Given the description of an element on the screen output the (x, y) to click on. 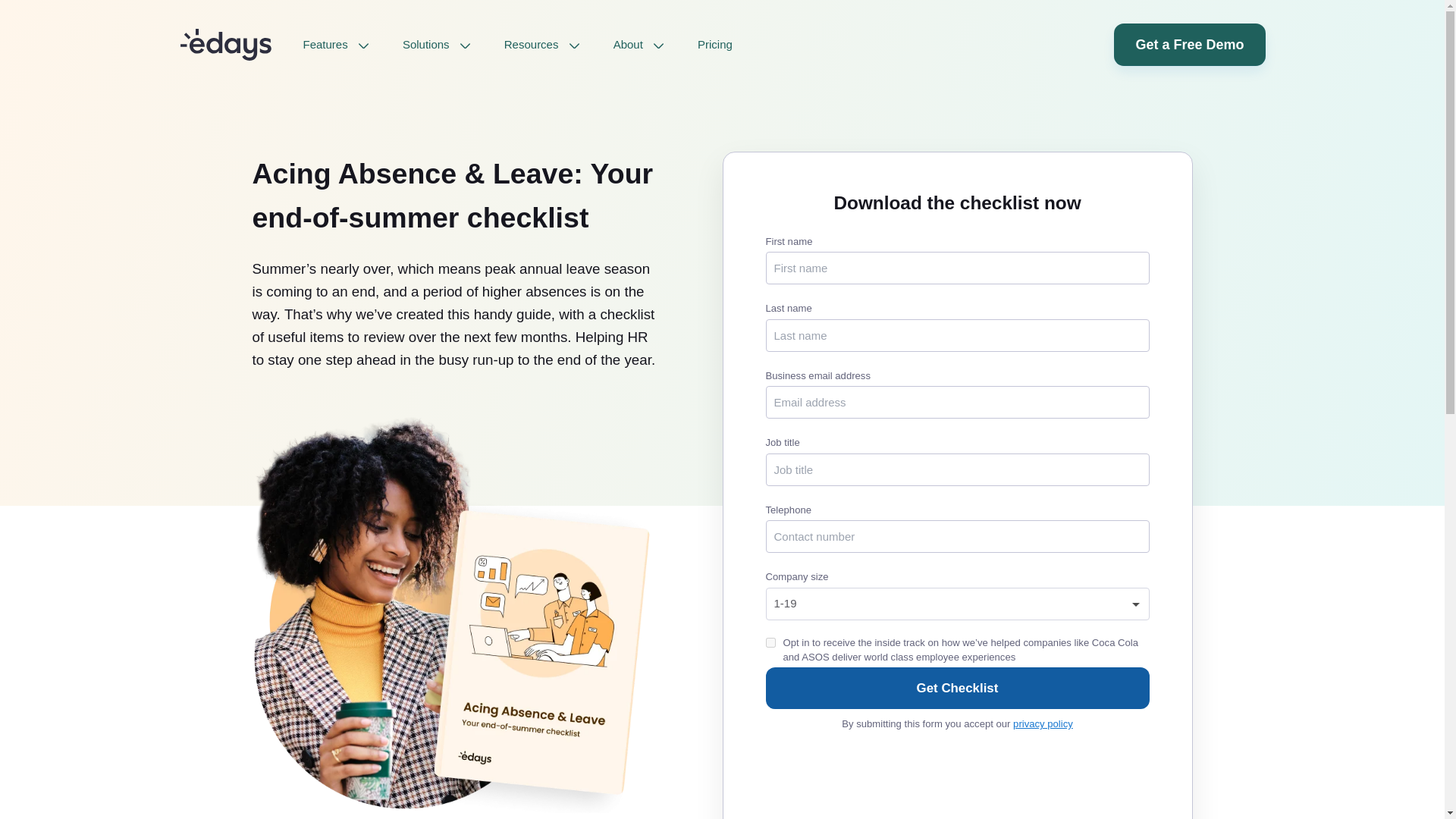
About (637, 43)
Get Checklist (957, 688)
Features (335, 43)
Resources (541, 43)
Solutions (436, 43)
